Given the description of an element on the screen output the (x, y) to click on. 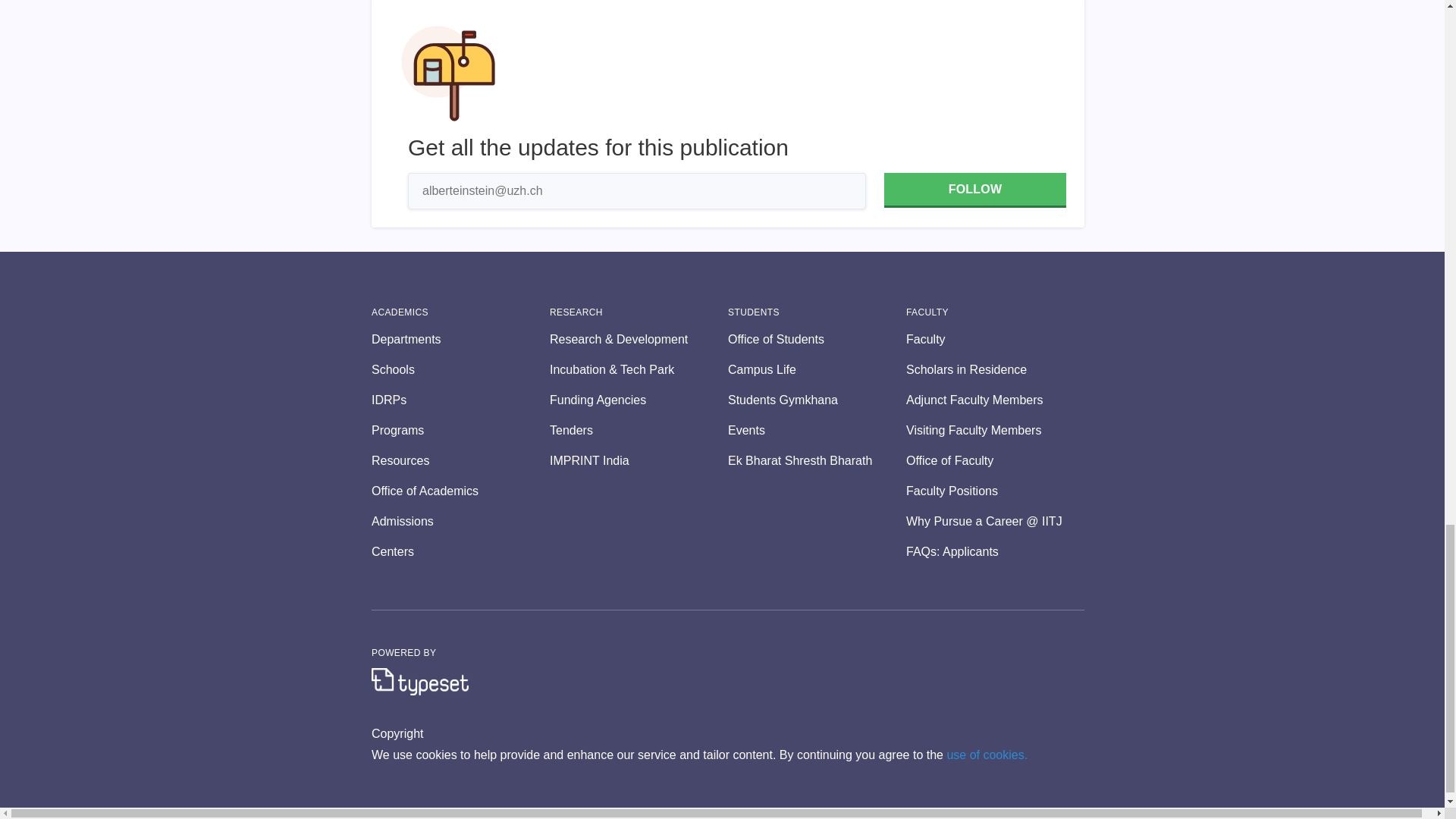
Students Gymkhana (816, 400)
Subscribe form hero illustration (448, 73)
Office of Students (816, 339)
Centers (460, 551)
Programs (460, 430)
Campus Life (816, 370)
Departments (460, 339)
IMPRINT India (639, 461)
Resources (460, 461)
Tenders (639, 430)
